Given the description of an element on the screen output the (x, y) to click on. 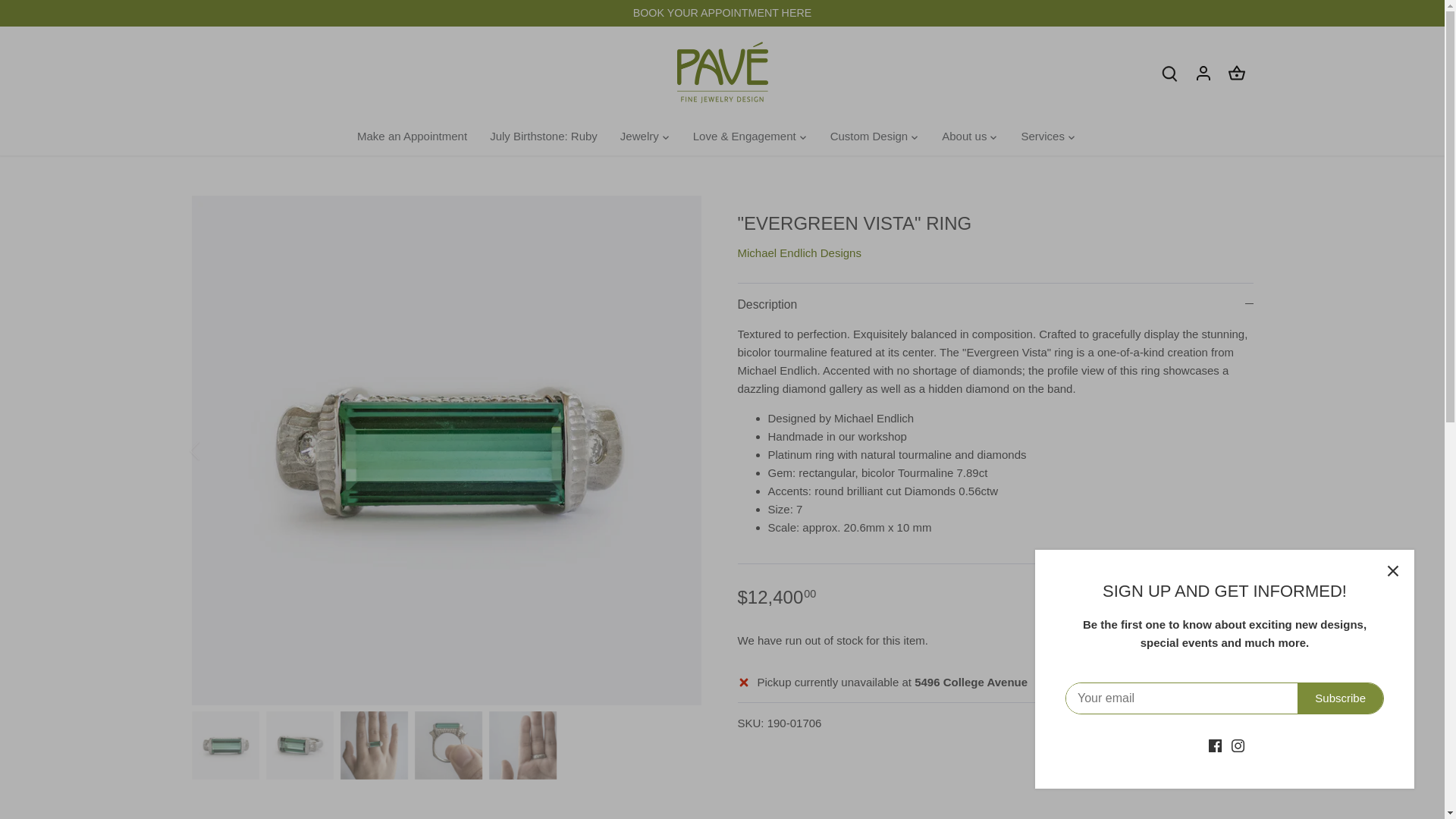
Jewelry (638, 136)
Go to cart (1235, 72)
BOOK YOUR APPOINTMENT HERE (721, 12)
Make an Appointment (417, 136)
July Birthstone: Ruby (543, 136)
